Given the description of an element on the screen output the (x, y) to click on. 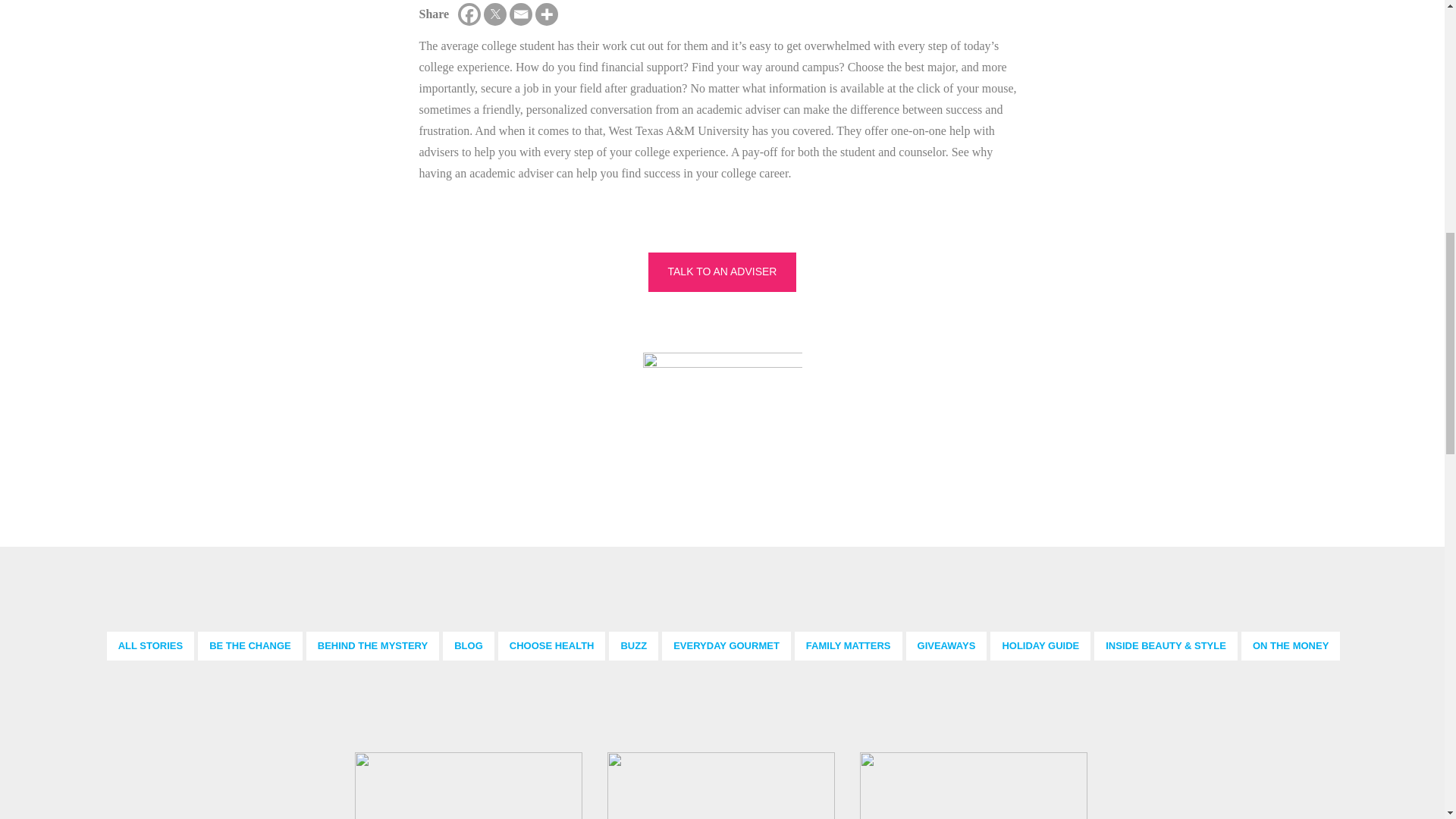
TALK TO AN ADVISER (721, 271)
ALL STORIES (150, 645)
